Given the description of an element on the screen output the (x, y) to click on. 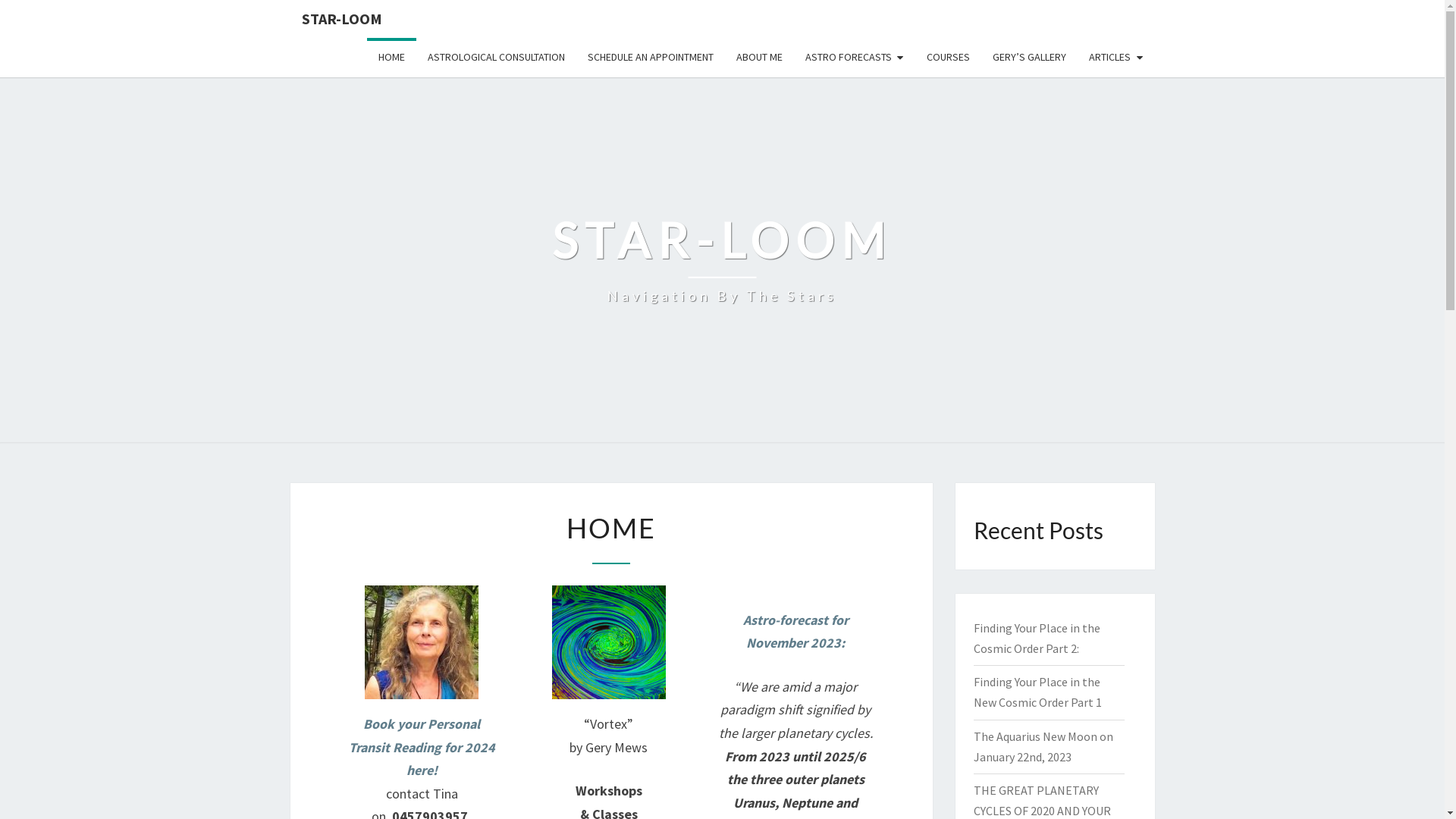
SCHEDULE AN APPOINTMENT Element type: text (650, 57)
ASTRO FORECASTS Element type: text (854, 57)
COURSES Element type: text (948, 57)
Book your Personal Transit Reading for 2024 here! Element type: text (421, 746)
Finding Your Place in the Cosmic Order Part 2: Element type: text (1036, 637)
ABOUT ME Element type: text (758, 57)
The Aquarius New Moon on January 22nd, 2023 Element type: text (1043, 746)
Finding Your Place in the New Cosmic Order Part 1 Element type: text (1037, 691)
ARTICLES Element type: text (1115, 57)
HOME Element type: text (391, 57)
STAR-LOOM Element type: text (340, 18)
ASTROLOGICAL CONSULTATION Element type: text (495, 57)
STAR-LOOM
Navigation By The Stars Element type: text (722, 259)
Astro-forecast for November 2023: Element type: text (795, 631)
